Given the description of an element on the screen output the (x, y) to click on. 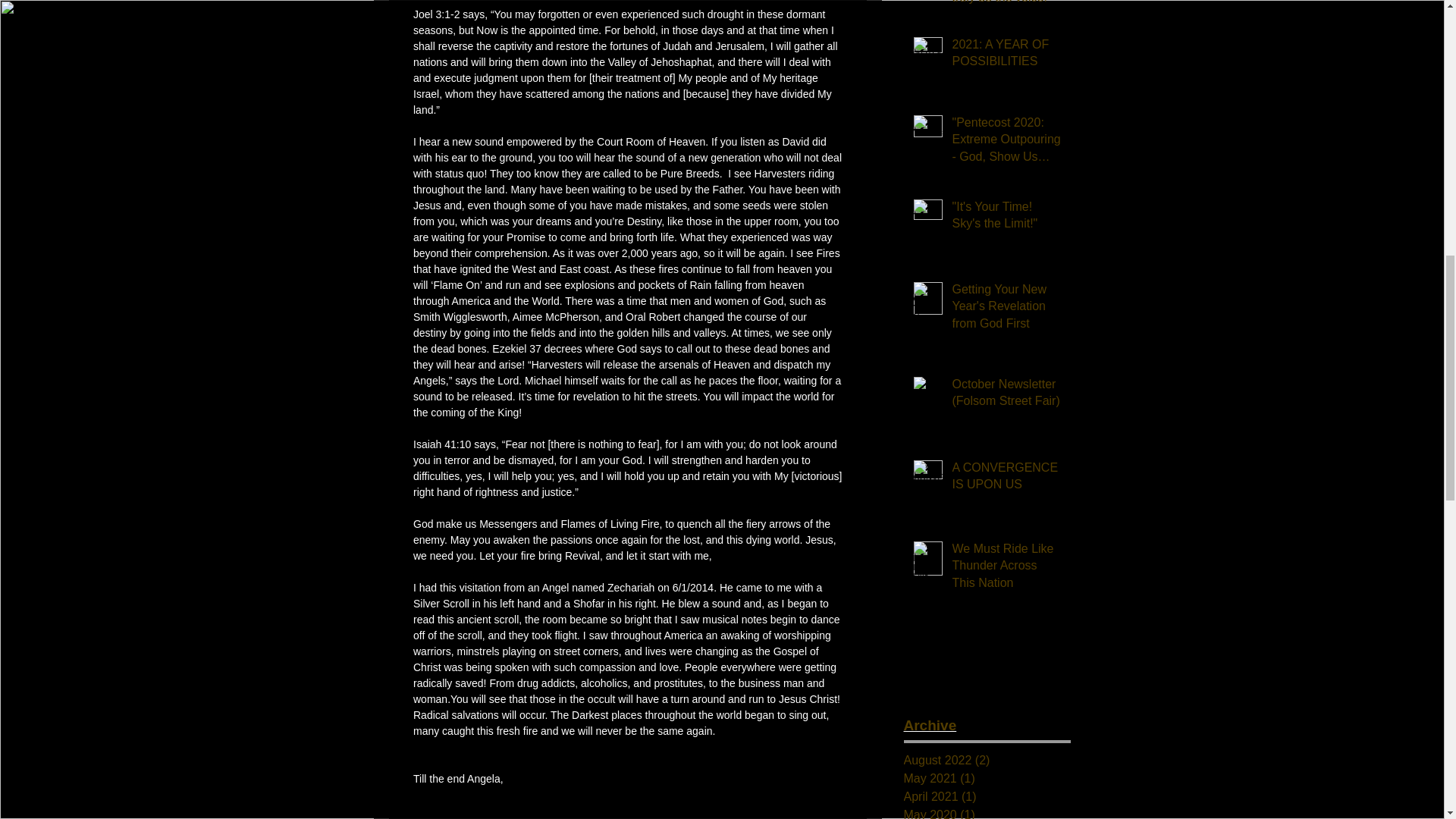
We Must Ride Like Thunder Across This Nation (1006, 568)
2021: A YEAR OF POSSIBILITIES (1006, 56)
Getting Your New Year's Revelation from God First (1006, 309)
"It's Your Time! Sky's the Limit!" (1006, 219)
A CONVERGENCE IS UPON US (1006, 479)
America: Get ready to stand up and truly be the voice! (1006, 6)
